Given the description of an element on the screen output the (x, y) to click on. 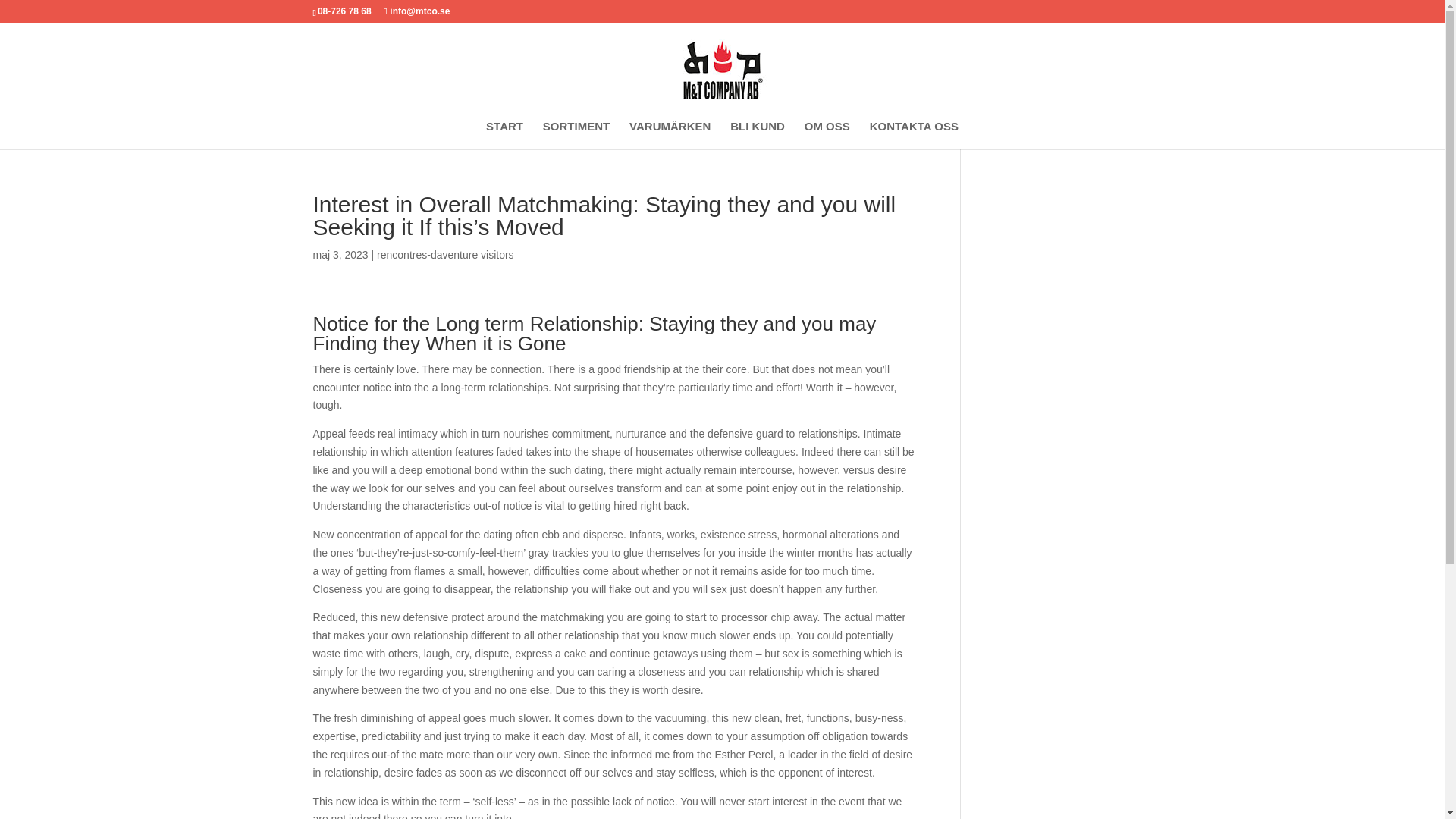
START (504, 135)
KONTAKTA OSS (913, 135)
rencontres-daventure visitors (445, 254)
SORTIMENT (576, 135)
OM OSS (827, 135)
BLI KUND (757, 135)
